Given the description of an element on the screen output the (x, y) to click on. 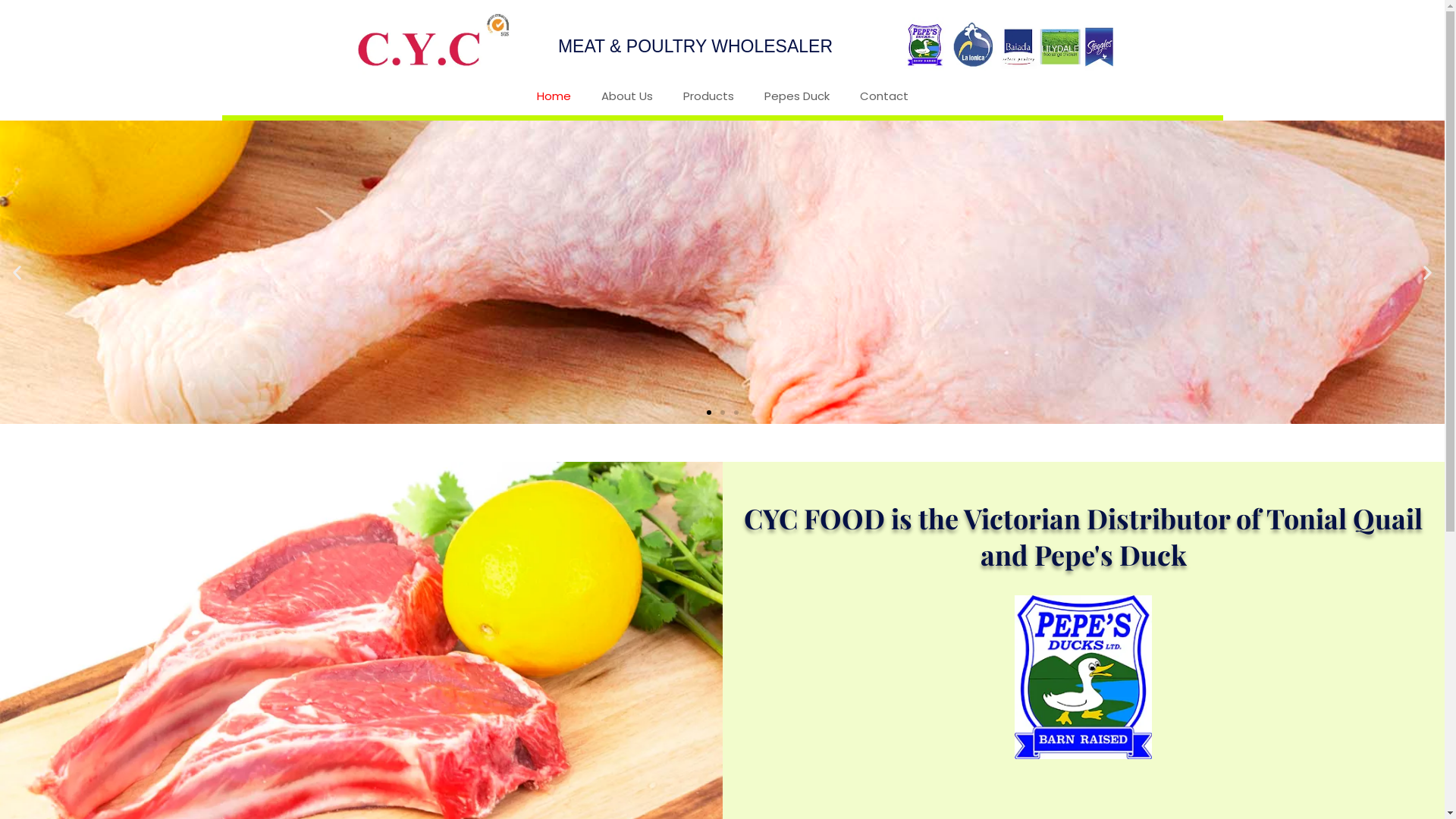
Pepes Duck Element type: text (796, 95)
Home Element type: text (553, 95)
About Us Element type: text (626, 95)
Products Element type: text (707, 95)
Contact Element type: text (883, 95)
